Given the description of an element on the screen output the (x, y) to click on. 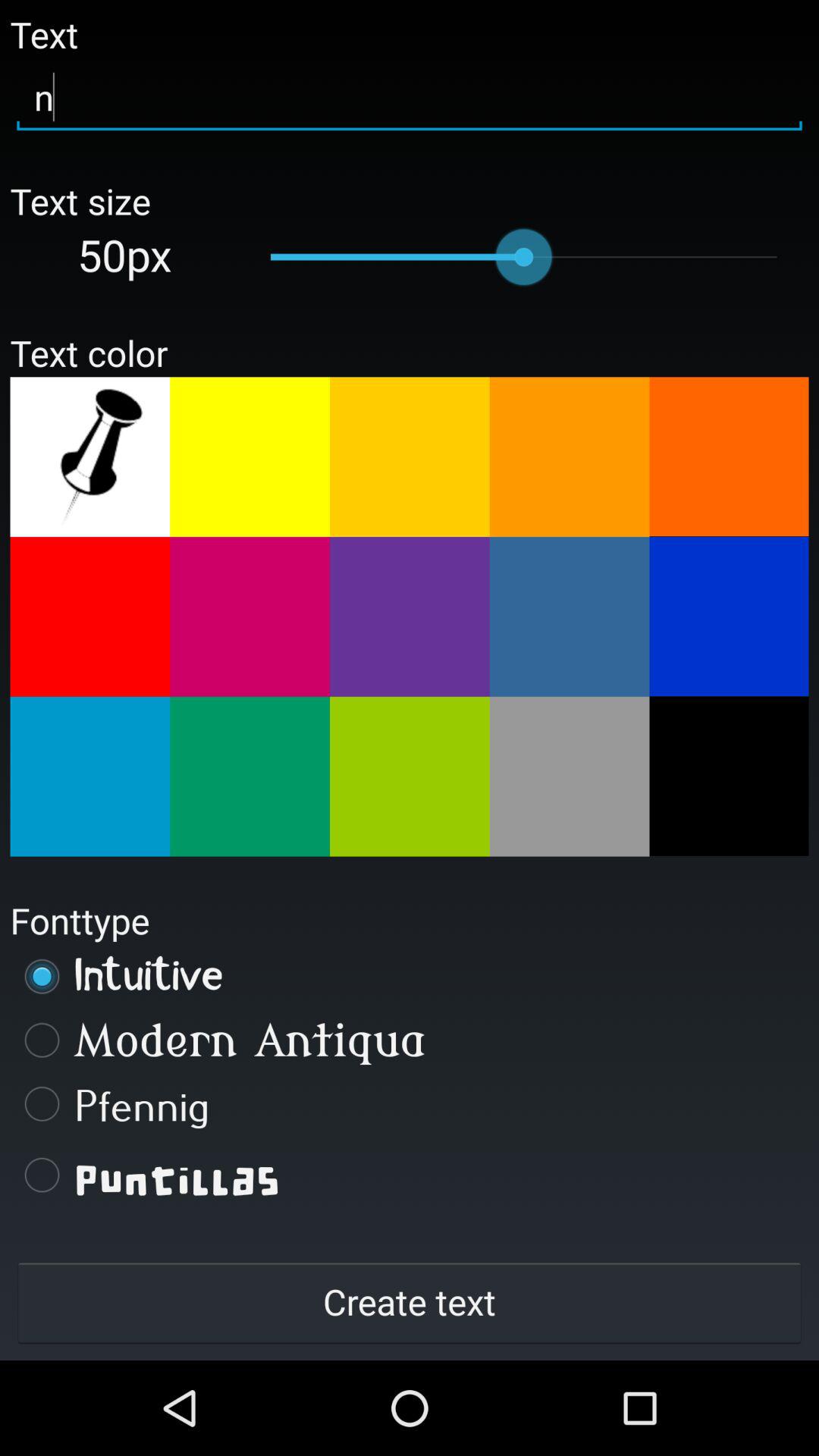
select 4th color in second row (569, 616)
